Given the description of an element on the screen output the (x, y) to click on. 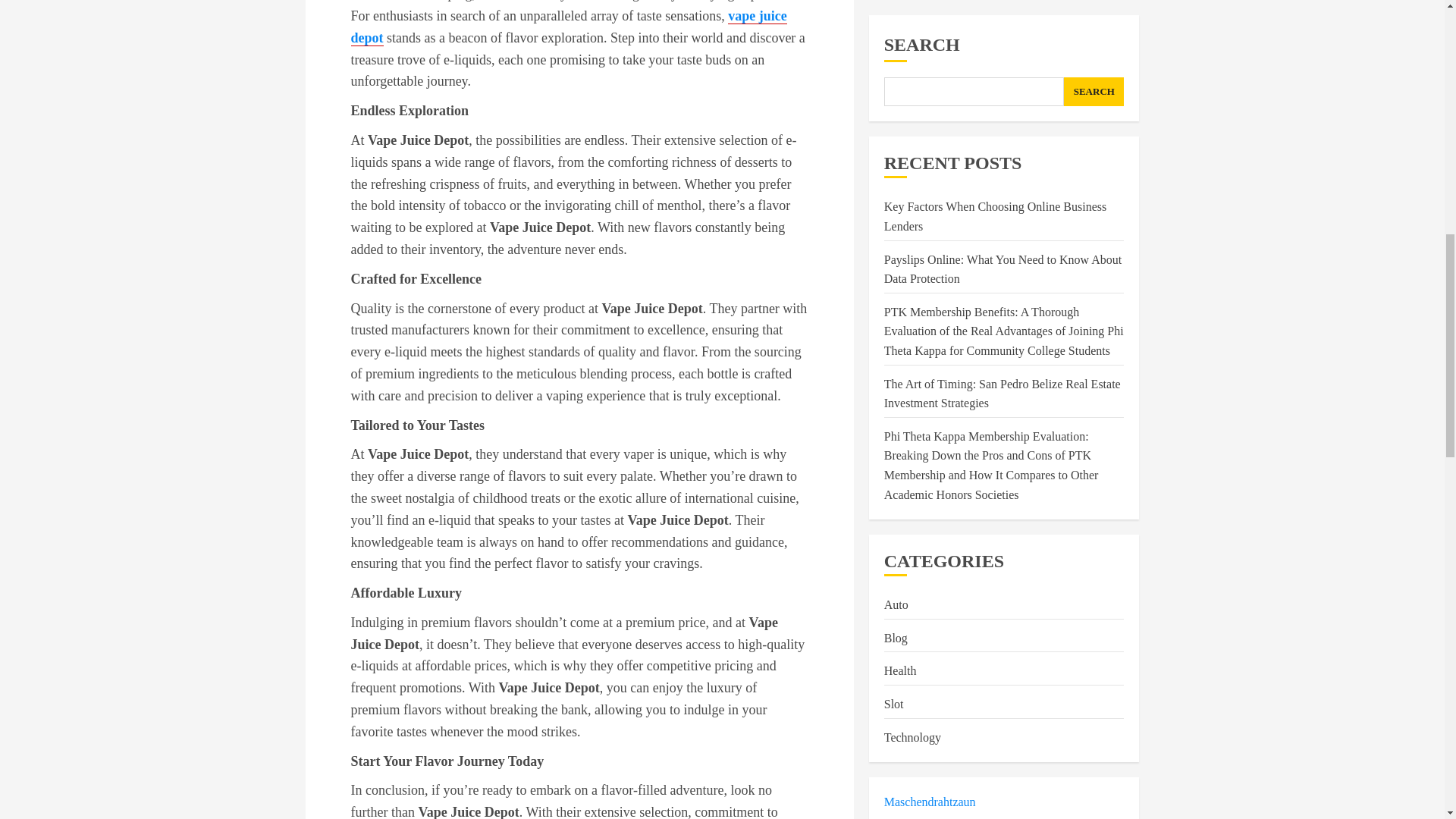
Slot (893, 133)
Blog (895, 68)
Technology (911, 167)
Health (900, 100)
vape juice depot (568, 26)
Auto (895, 34)
